Given the description of an element on the screen output the (x, y) to click on. 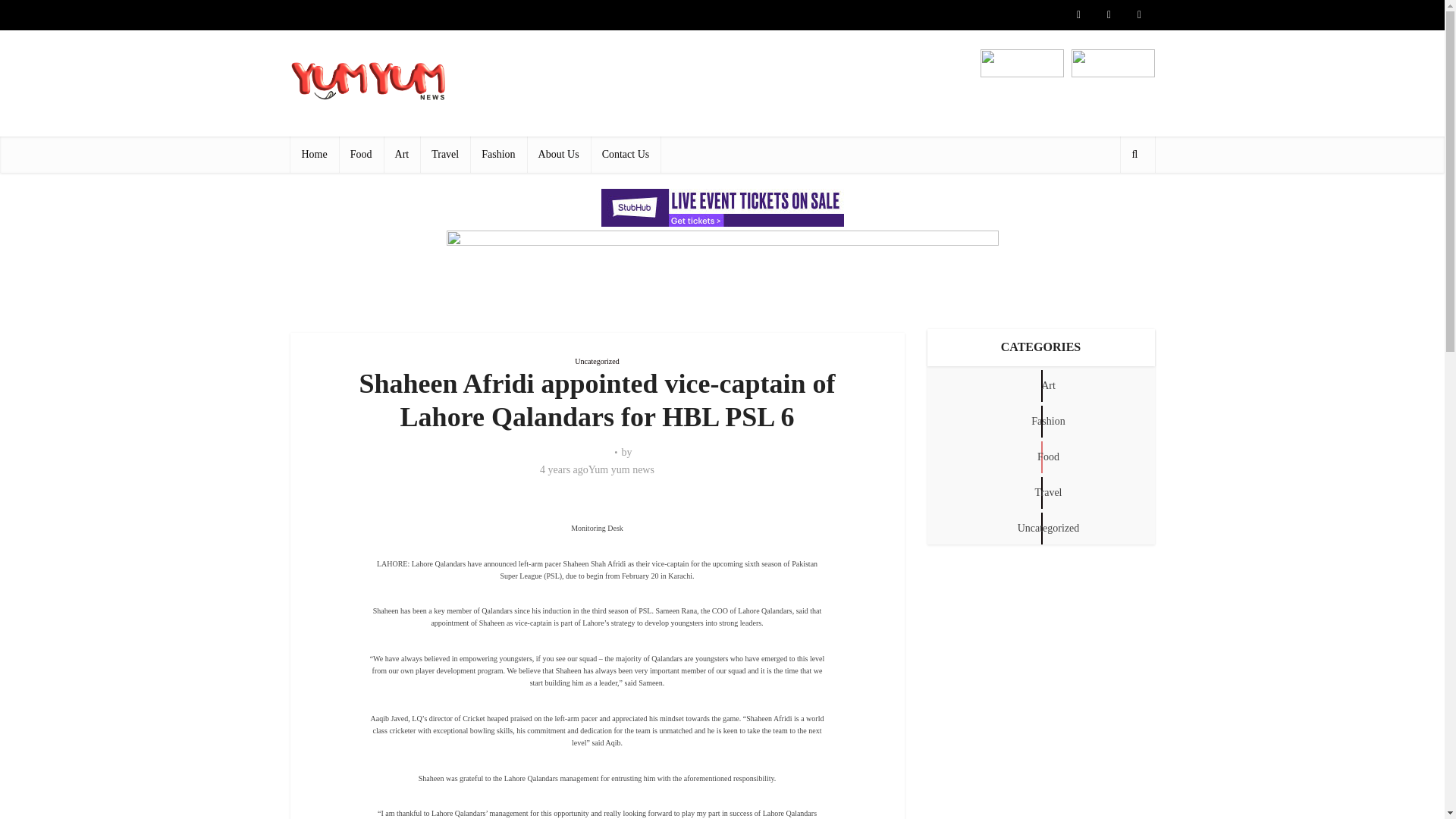
Uncategorized (596, 361)
Art (402, 154)
Contact Us (626, 154)
Food (361, 154)
Fashion (497, 154)
About Us (559, 154)
Travel (445, 154)
Home (313, 154)
Yum yum news (620, 469)
